Given the description of an element on the screen output the (x, y) to click on. 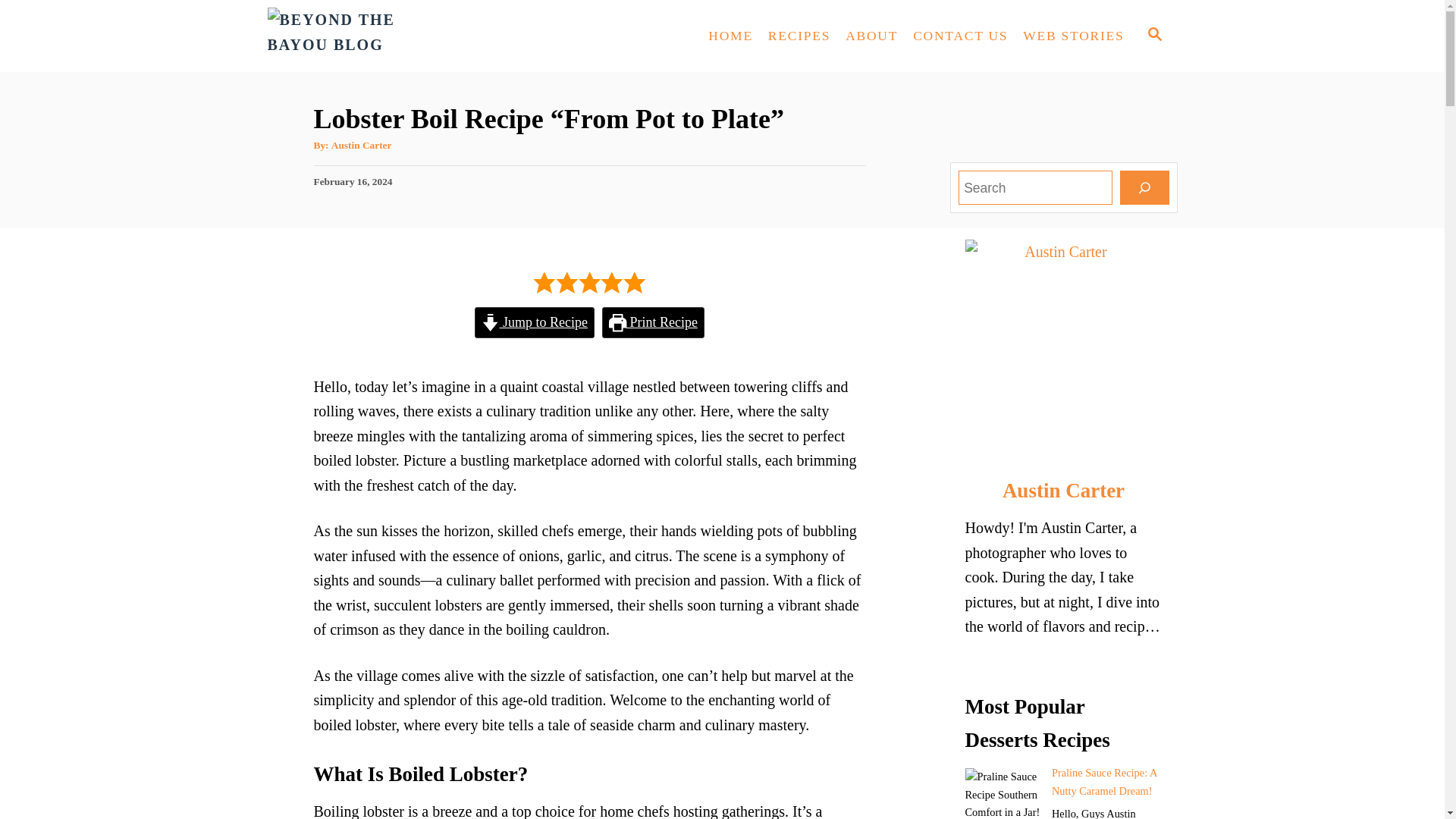
HOME (730, 36)
Beyond the Bayou Blog (403, 36)
ABOUT (871, 36)
Print Recipe (653, 322)
CONTACT US (959, 36)
RECIPES (799, 36)
WEB STORIES (1072, 36)
SEARCH (1153, 35)
Jump to Recipe (534, 322)
Austin Carter (361, 144)
